Given the description of an element on the screen output the (x, y) to click on. 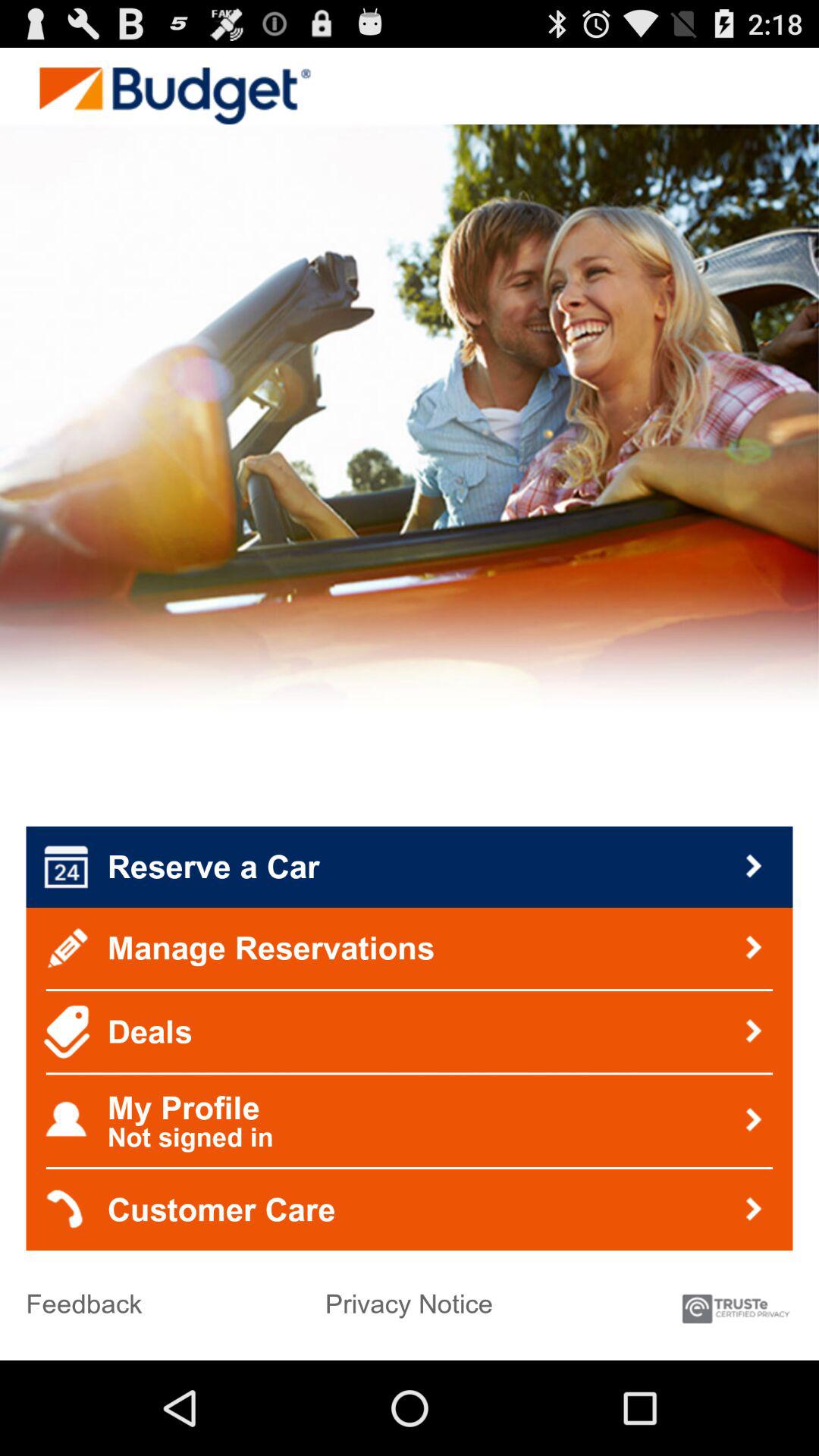
launch item below customer care icon (409, 1297)
